Given the description of an element on the screen output the (x, y) to click on. 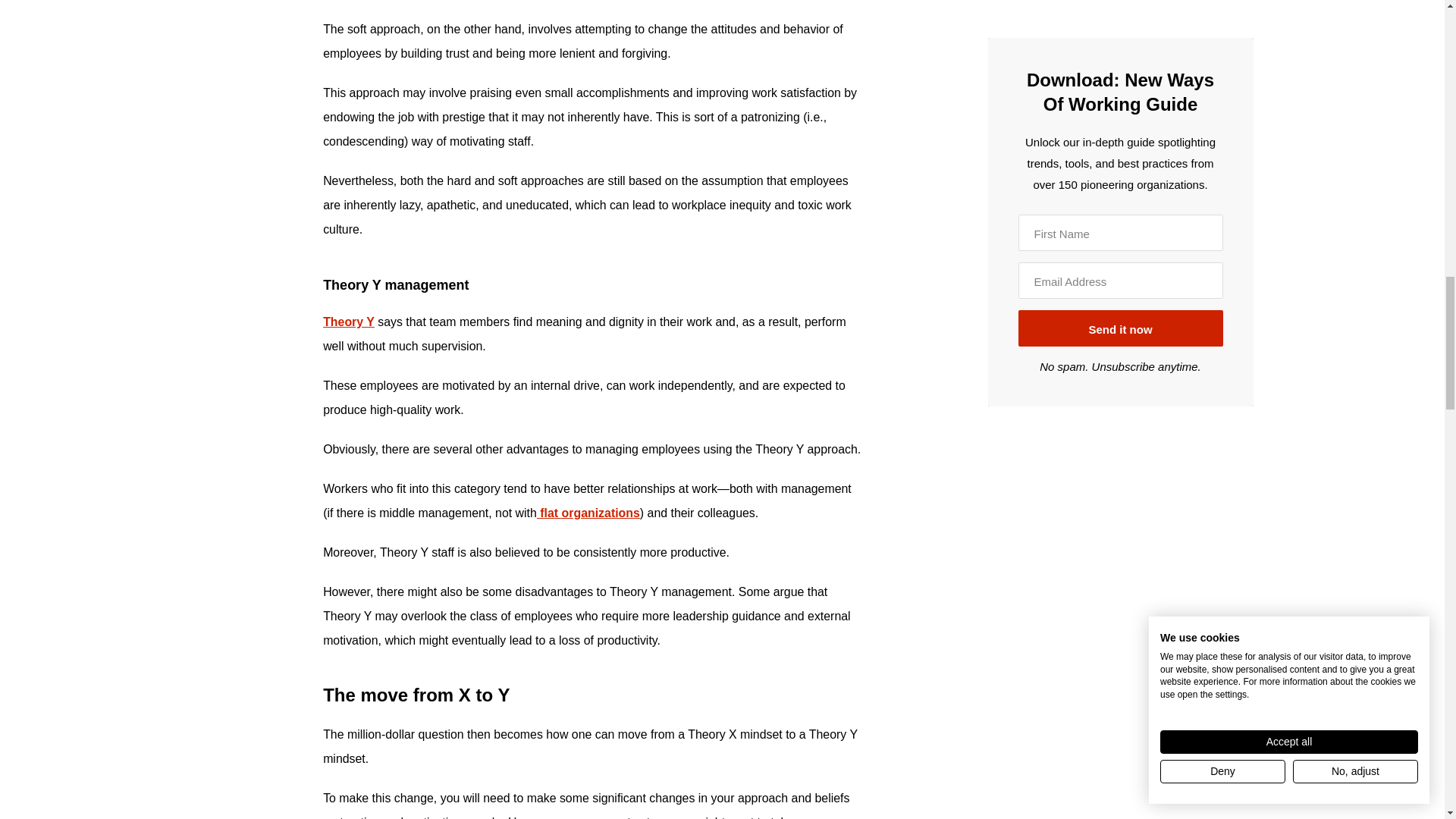
Theory Y (348, 321)
flat organizations (588, 512)
